Given the description of an element on the screen output the (x, y) to click on. 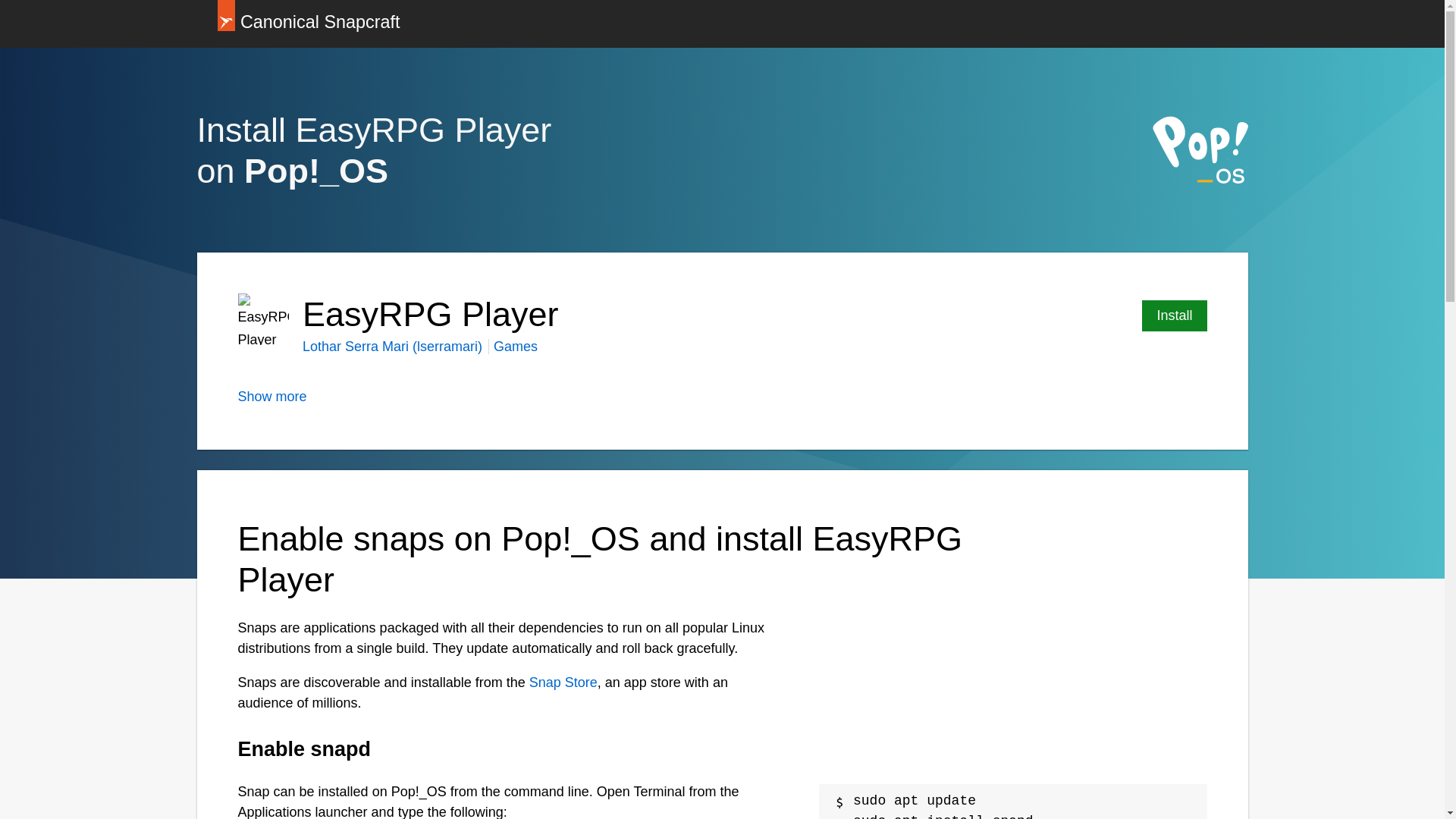
Canonical Snapcraft (307, 23)
Games (515, 346)
Show more (272, 396)
Snap Store (562, 682)
Install (1174, 315)
